Given the description of an element on the screen output the (x, y) to click on. 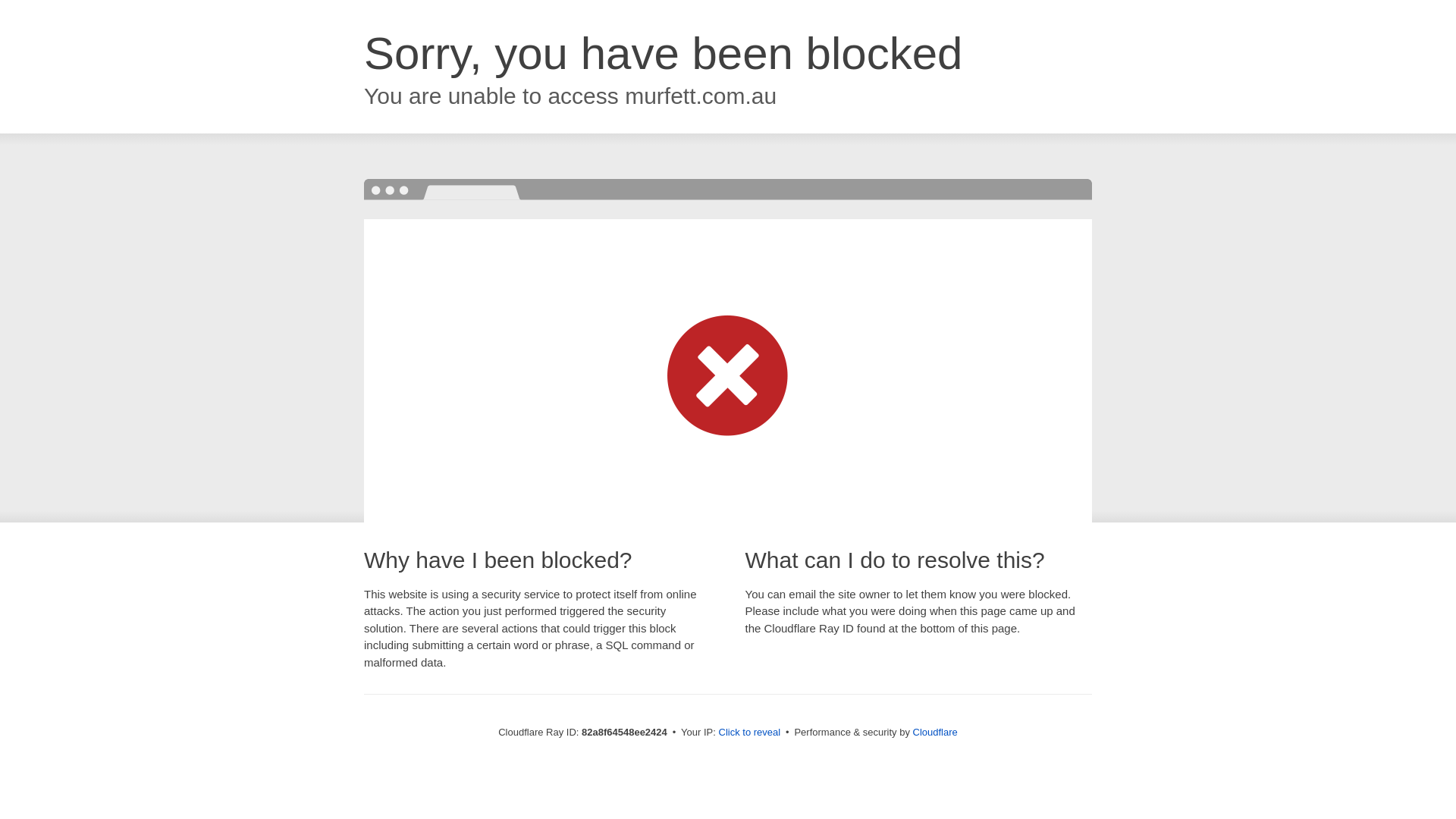
Cloudflare Element type: text (935, 731)
Click to reveal Element type: text (749, 732)
